Given the description of an element on the screen output the (x, y) to click on. 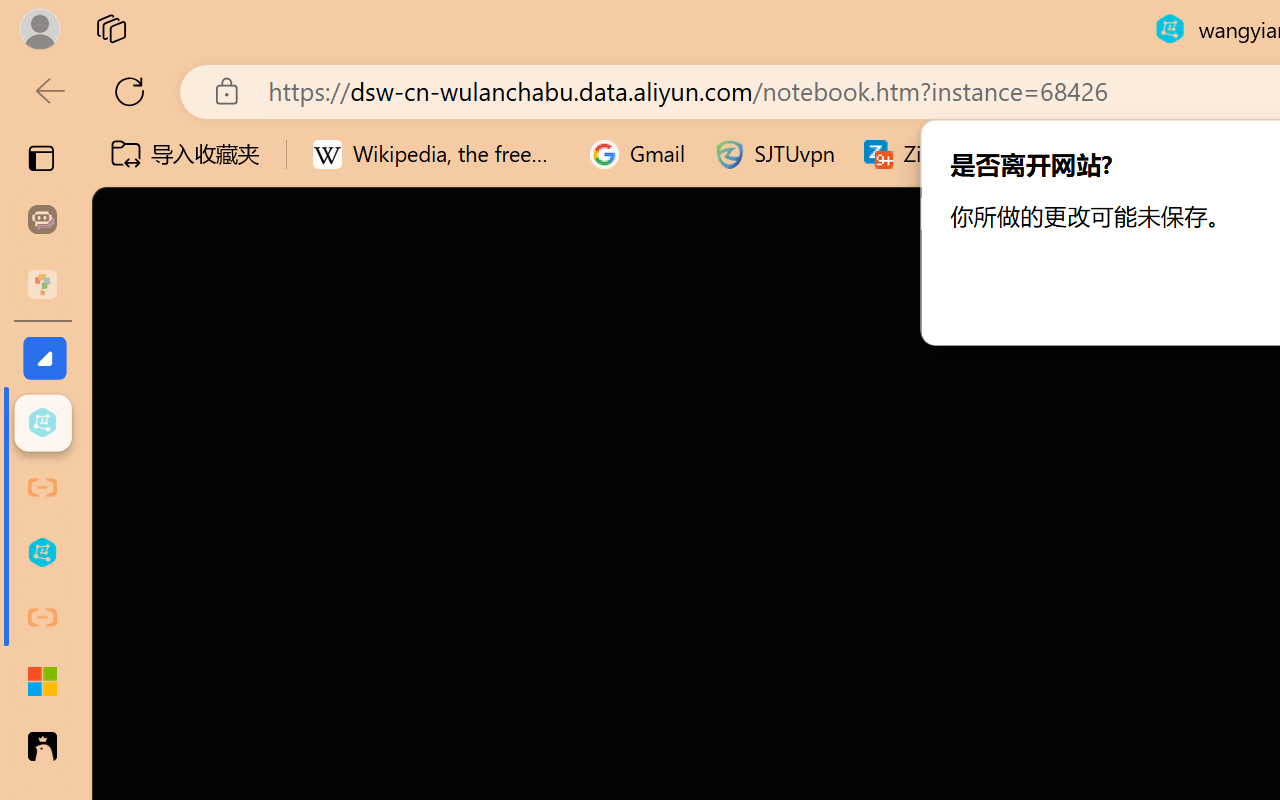
Accessibility (825, 54)
Preview (30, 114)
Split (523, 111)
Wipe (605, 111)
